Given the description of an element on the screen output the (x, y) to click on. 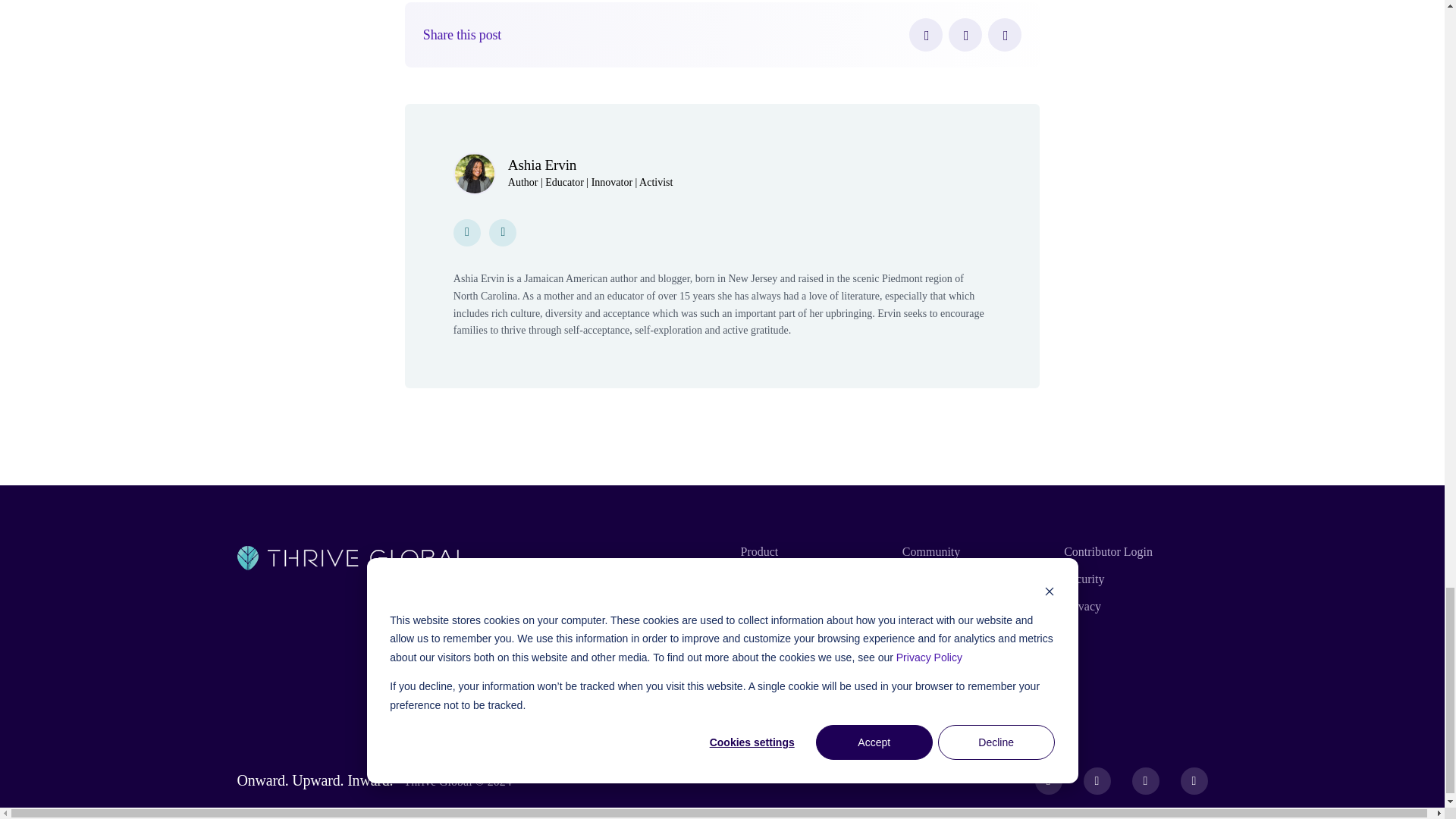
Facebook (925, 34)
Ashia Ervin (542, 164)
LinkedIn (1005, 34)
Twitter (965, 34)
